Given the description of an element on the screen output the (x, y) to click on. 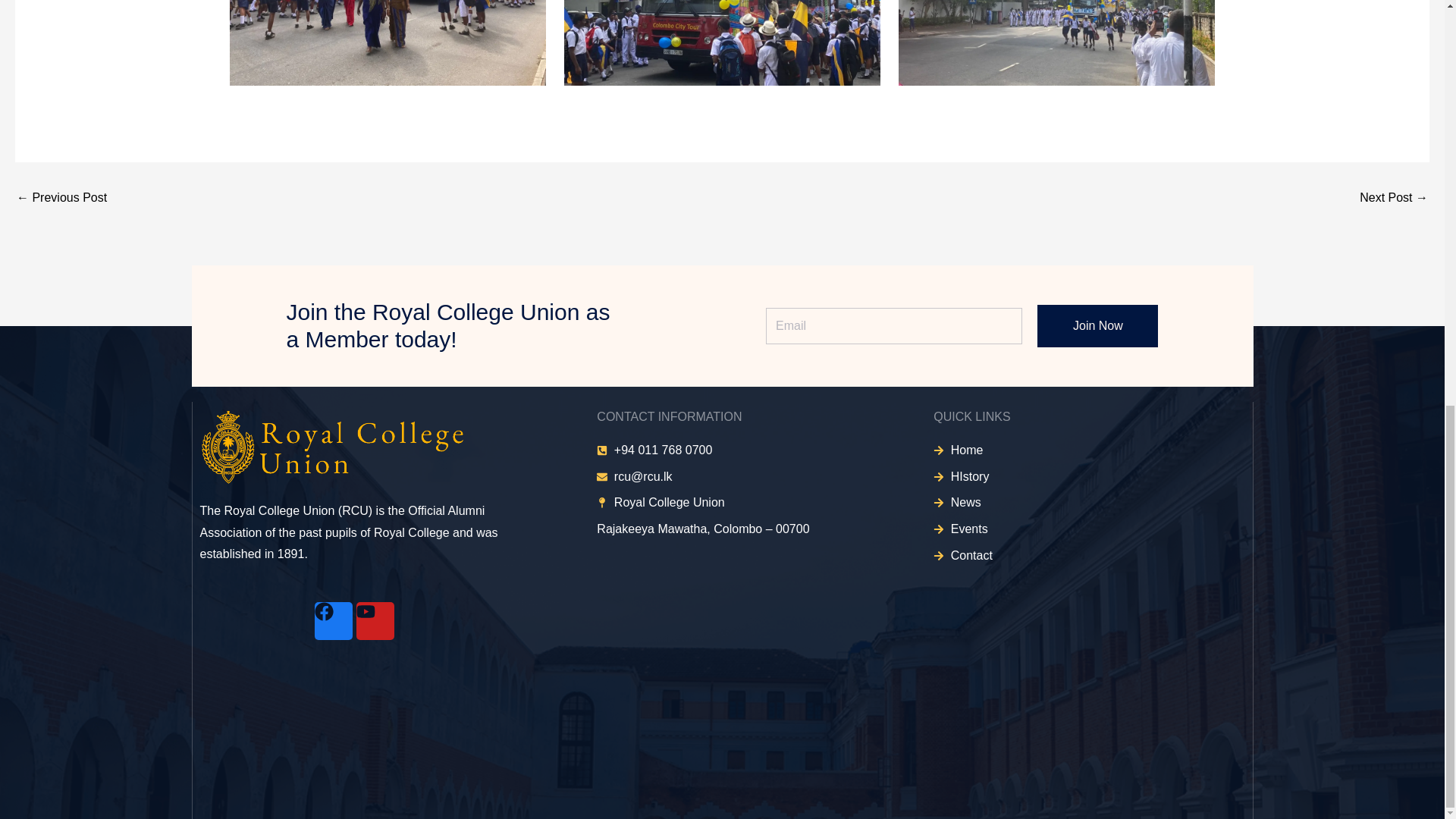
47th Mustangs Trophy (1393, 197)
Tips to keep your cool in this heat (61, 197)
